Given the description of an element on the screen output the (x, y) to click on. 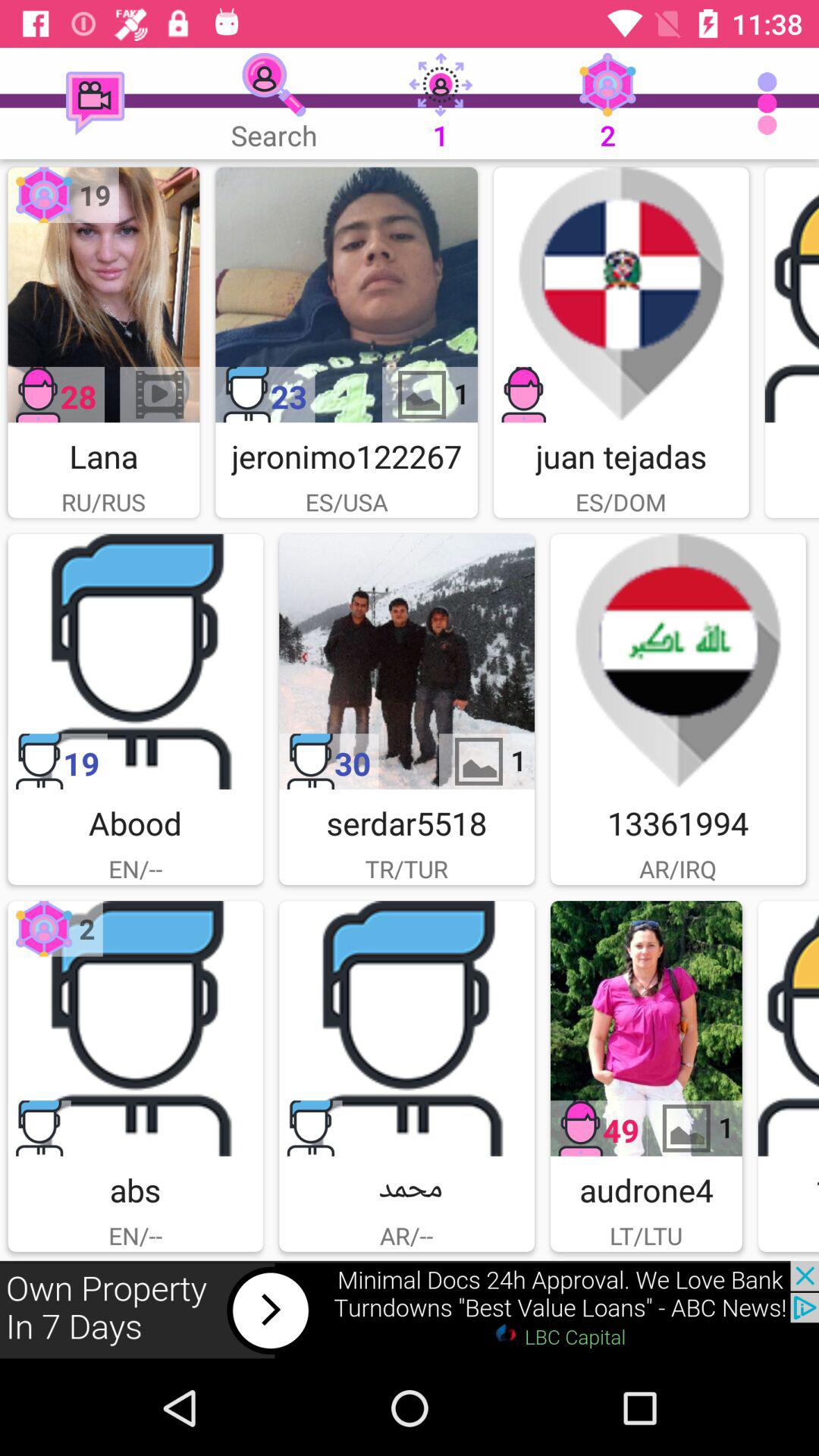
open user 's profile (791, 294)
